Given the description of an element on the screen output the (x, y) to click on. 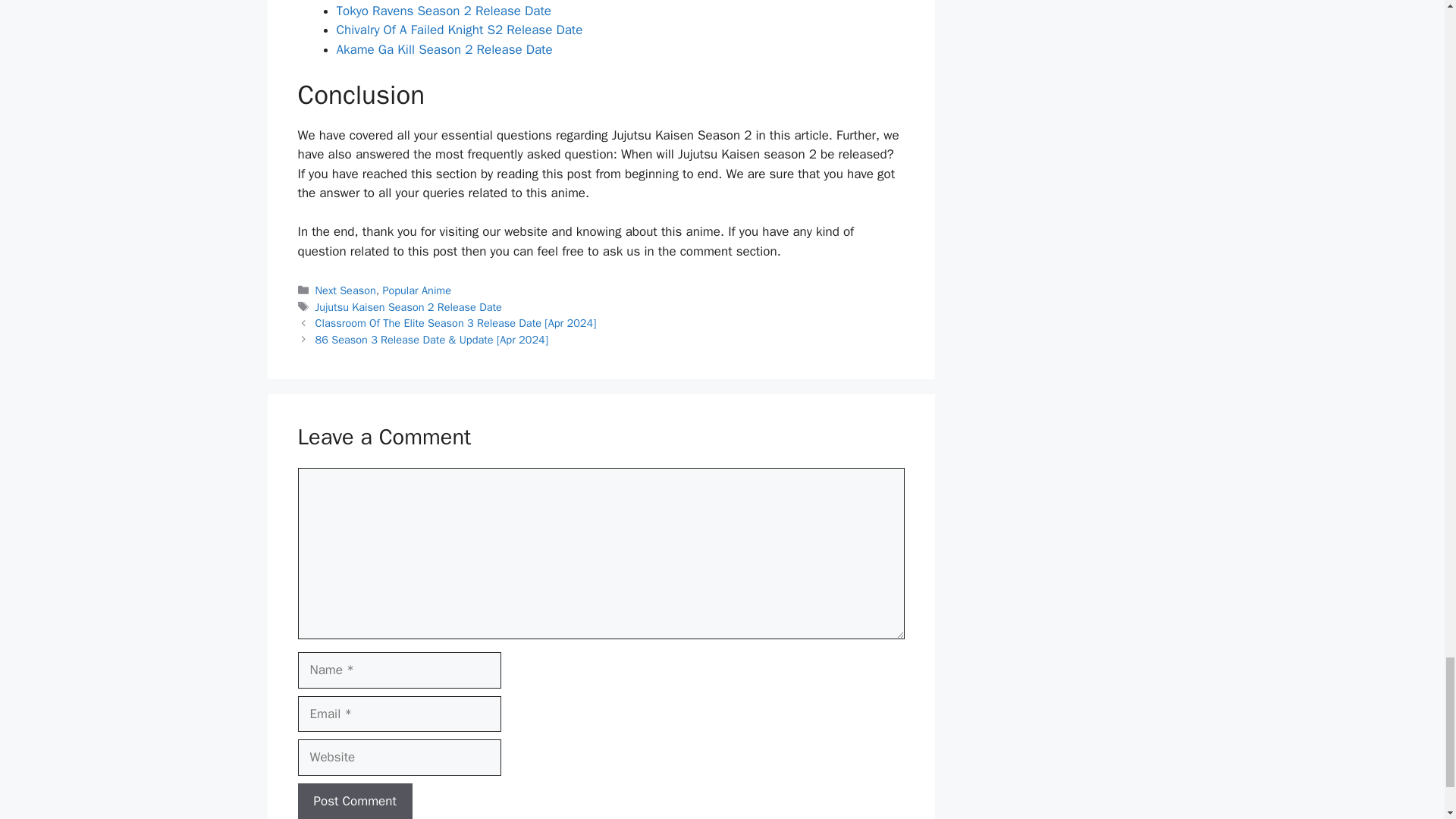
Akame Ga Kill Season 2 Release Date (444, 49)
Post Comment (354, 800)
Next Season (345, 290)
Tokyo Ravens Season 2 Release Date (443, 10)
Chivalry Of A Failed Knight S2 Release Date (459, 29)
